Given the description of an element on the screen output the (x, y) to click on. 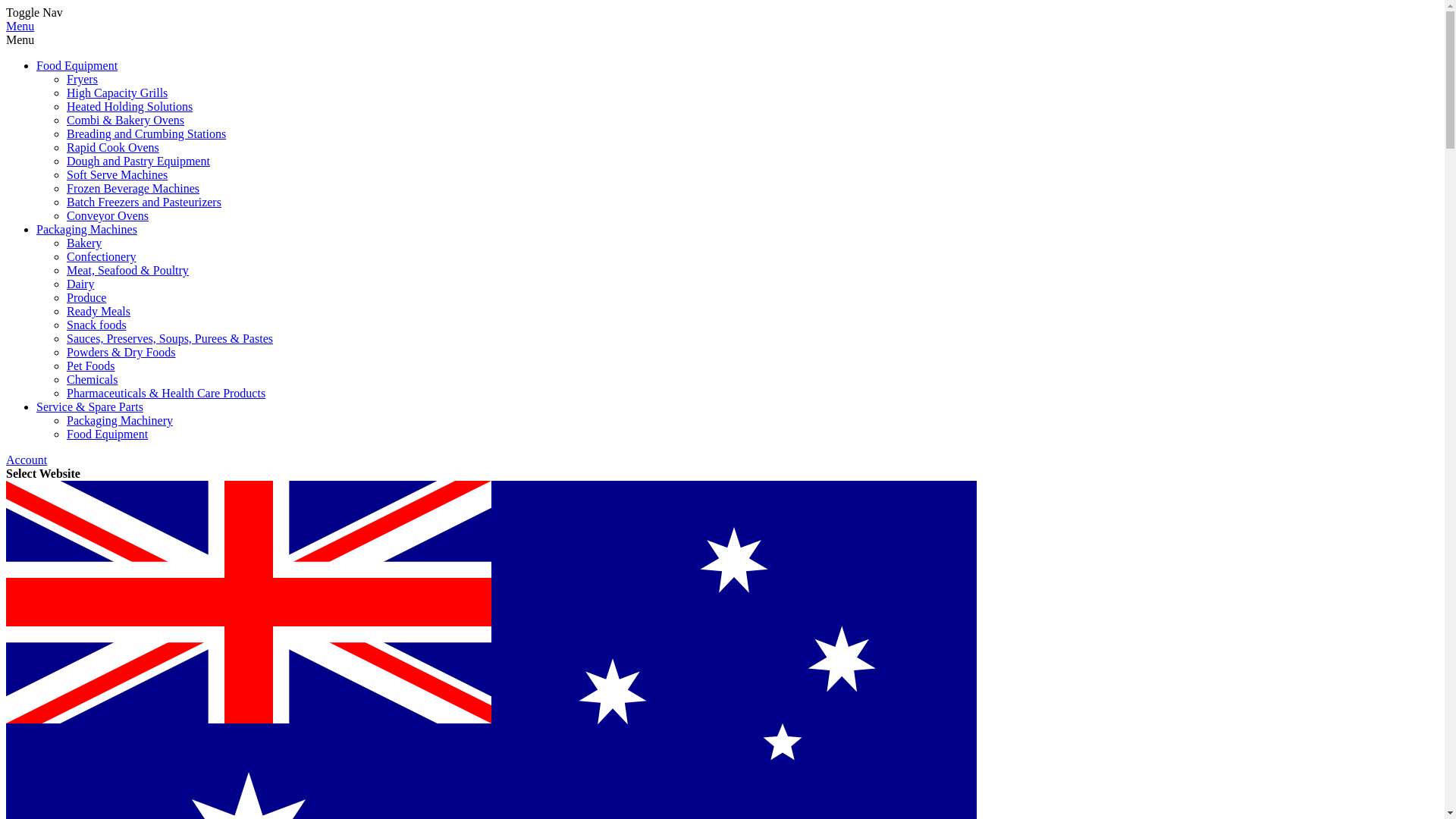
Breading and Crumbing Stations Element type: text (145, 133)
Frozen Beverage Machines Element type: text (132, 188)
Meat, Seafood & Poultry Element type: text (127, 269)
Powders & Dry Foods Element type: text (120, 351)
Sauces, Preserves, Soups, Purees & Pastes Element type: text (169, 338)
Ready Meals Element type: text (98, 310)
Conveyor Ovens Element type: text (107, 215)
Account Element type: text (26, 459)
Heated Holding Solutions Element type: text (129, 106)
Rapid Cook Ovens Element type: text (112, 147)
Packaging Machinery Element type: text (119, 420)
Fryers Element type: text (81, 78)
Food Equipment Element type: text (106, 433)
Bakery Element type: text (83, 242)
Combi & Bakery Ovens Element type: text (125, 119)
Soft Serve Machines Element type: text (116, 174)
Chemicals Element type: text (92, 379)
Confectionery Element type: text (101, 256)
Dairy Element type: text (80, 283)
Packaging Machines Element type: text (86, 228)
Service & Spare Parts Element type: text (89, 406)
Menu Element type: text (20, 25)
Produce Element type: text (86, 297)
Dough and Pastry Equipment Element type: text (138, 160)
Snack foods Element type: text (96, 324)
Pet Foods Element type: text (90, 365)
Food Equipment Element type: text (76, 65)
Pharmaceuticals & Health Care Products Element type: text (165, 392)
Batch Freezers and Pasteurizers Element type: text (143, 201)
High Capacity Grills Element type: text (116, 92)
